Given the description of an element on the screen output the (x, y) to click on. 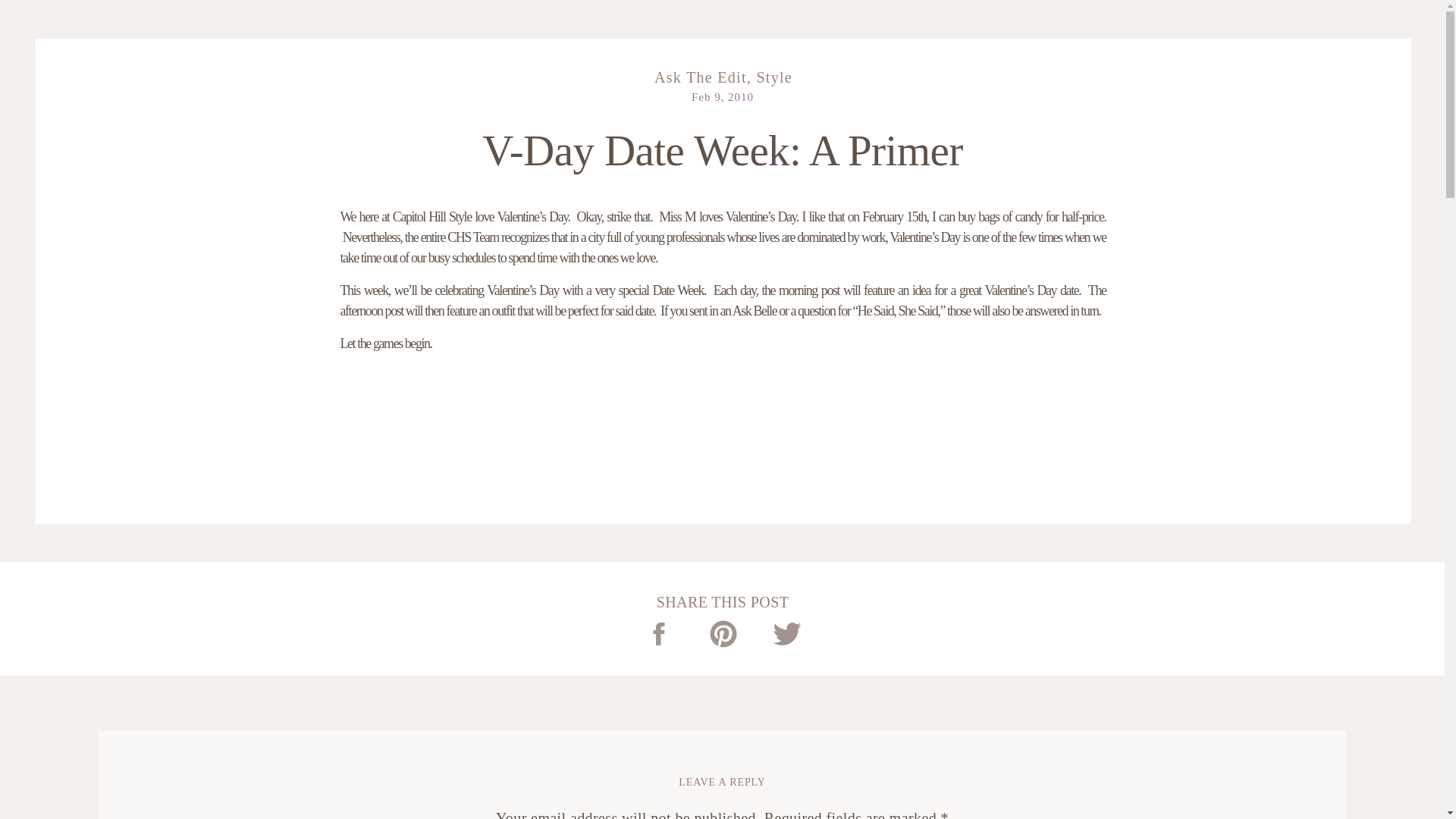
Ask The Edit (699, 76)
Style (773, 76)
CONTACT (147, 27)
ABOUT (84, 27)
SUBSCRIBE (1308, 26)
